Given the description of an element on the screen output the (x, y) to click on. 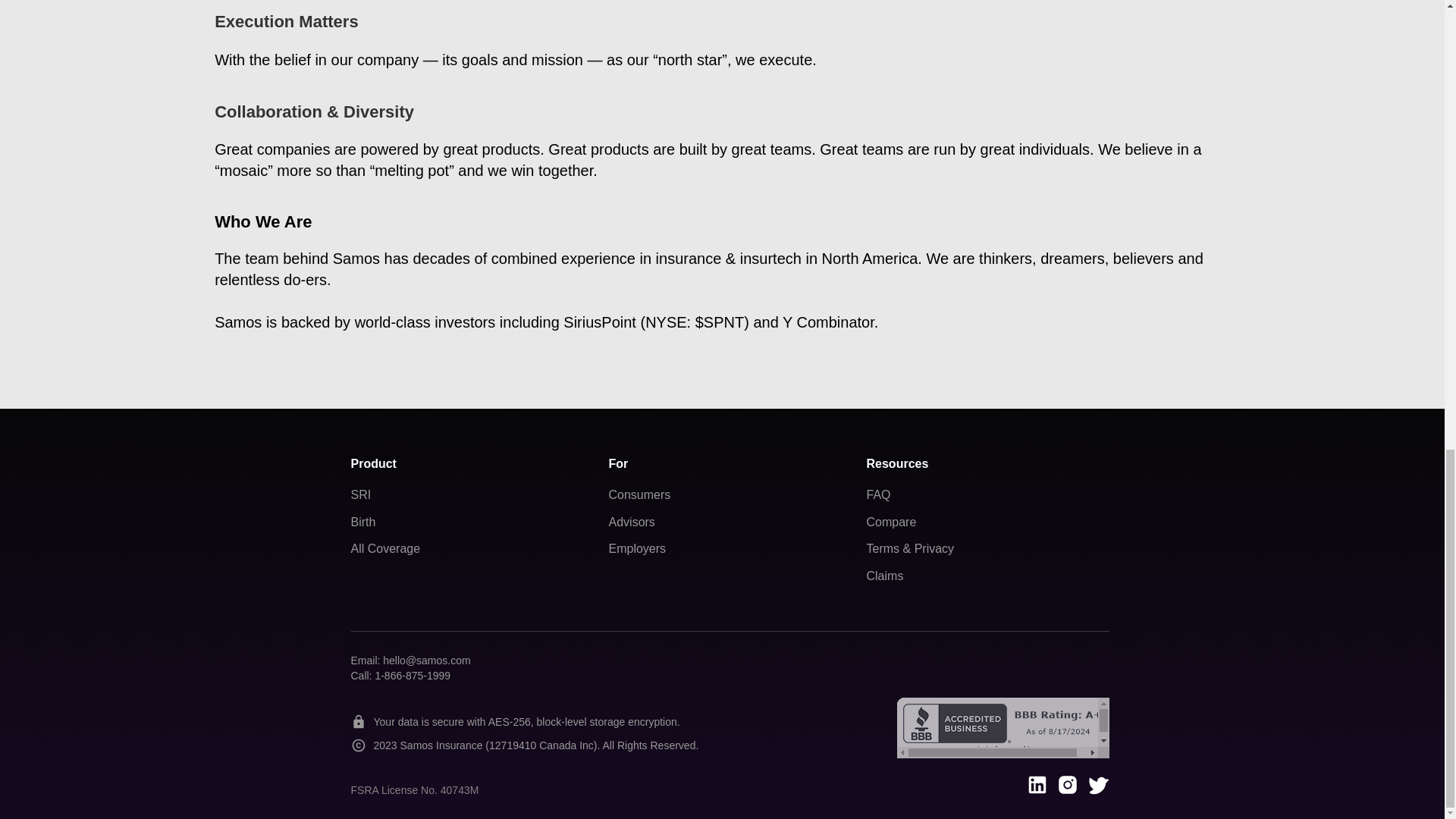
Compare (890, 521)
FAQ (877, 494)
Birth (362, 521)
Employers (636, 548)
Consumers (638, 494)
Advisors (630, 521)
Claims (884, 575)
SRI (360, 494)
Terms (882, 548)
1-866-875-1999 (411, 675)
